Given the description of an element on the screen output the (x, y) to click on. 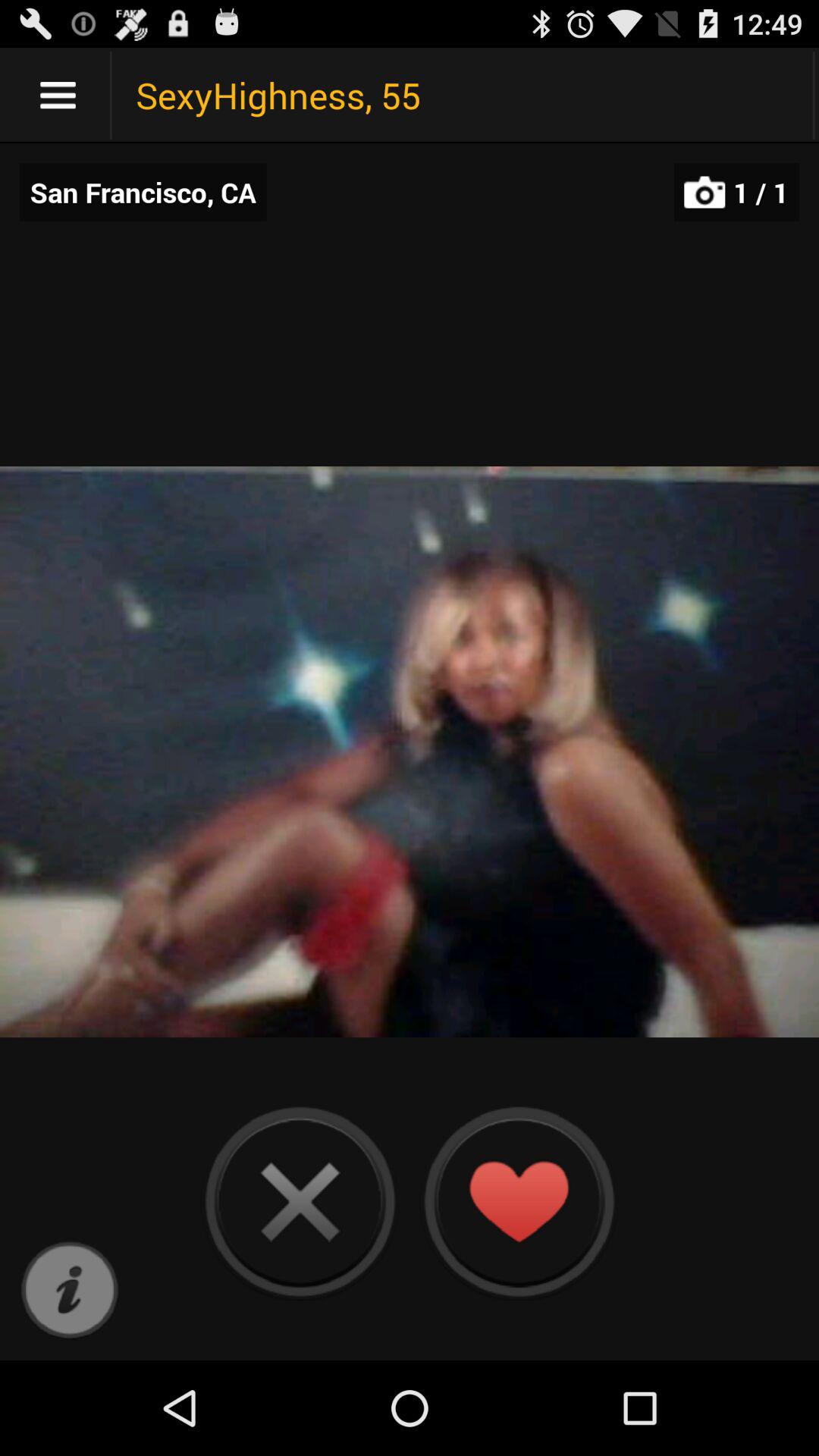
close the preview (299, 1200)
